Given the description of an element on the screen output the (x, y) to click on. 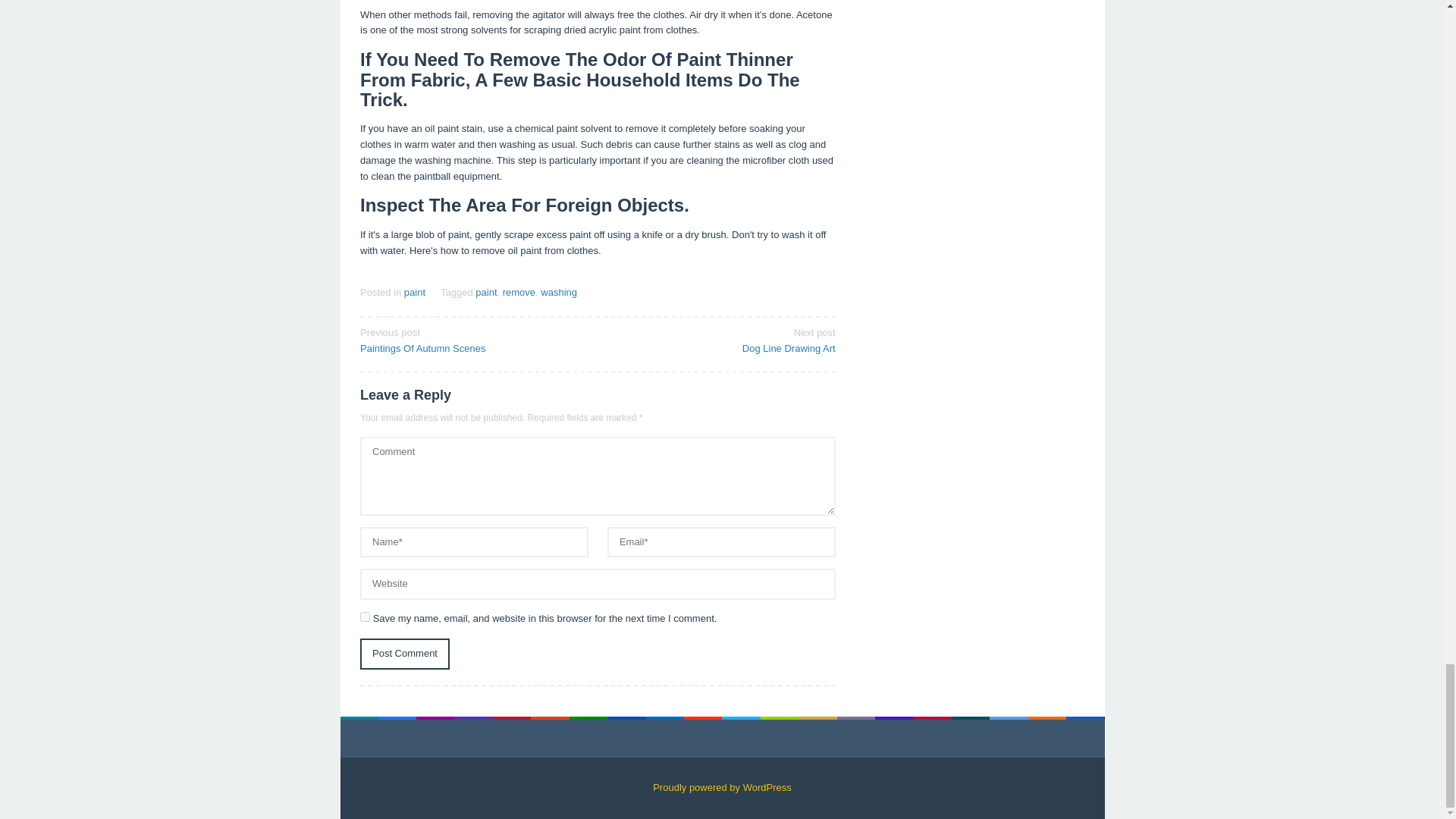
Post Comment (404, 653)
washing (558, 292)
yes (721, 339)
Post Comment (364, 616)
remove (473, 339)
paint (404, 653)
paint (518, 292)
